Given the description of an element on the screen output the (x, y) to click on. 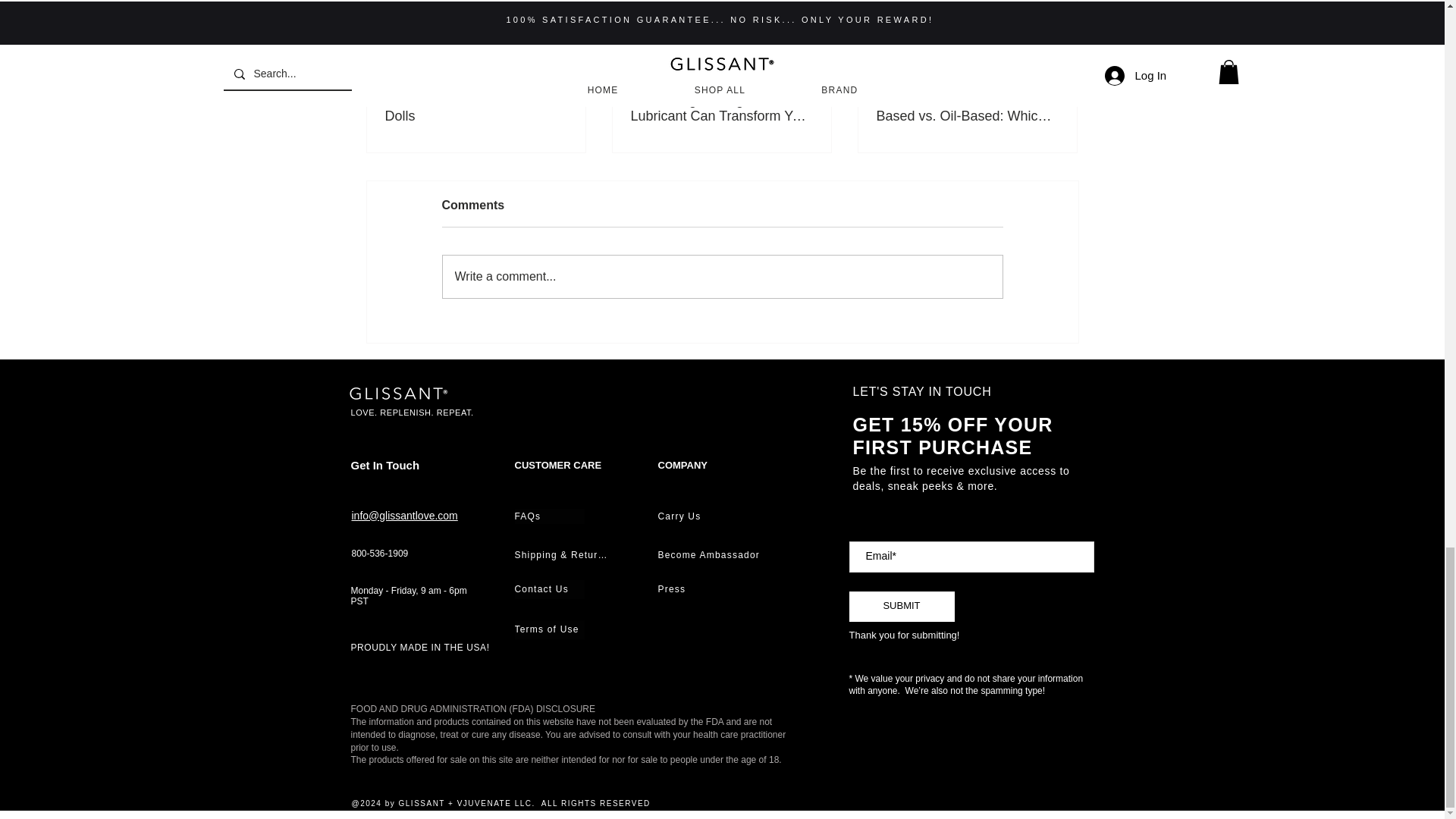
Glissant Lubricants (399, 393)
